Given the description of an element on the screen output the (x, y) to click on. 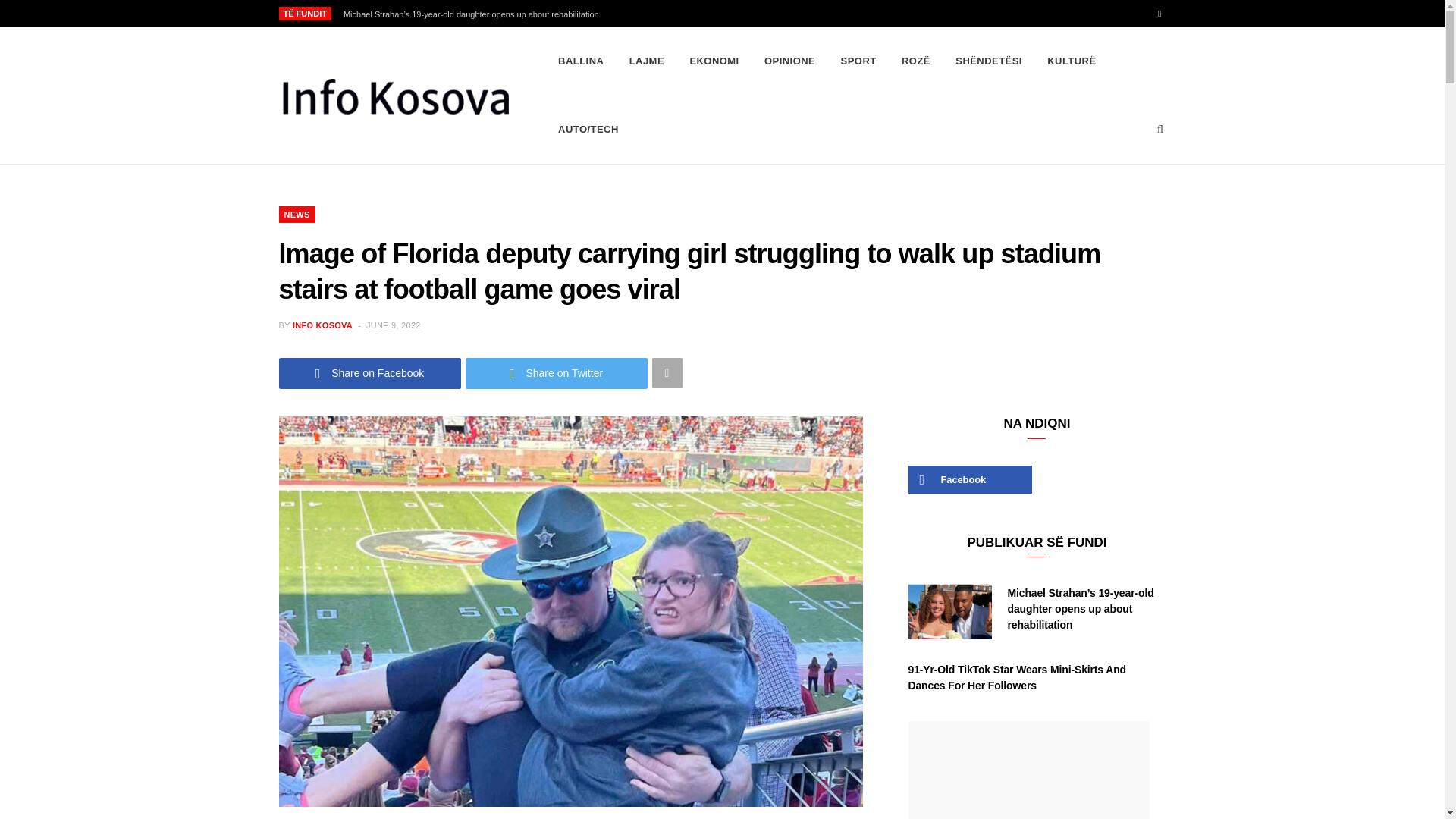
JUNE 9, 2022 (393, 325)
INFO KOSOVA (322, 325)
NEWS (297, 214)
BALLINA (580, 61)
Share on Facebook (370, 373)
OPINIONE (789, 61)
Share on Twitter (556, 373)
Share on Facebook (370, 373)
EKONOMI (713, 61)
Posts by Info Kosova (322, 325)
Share on Twitter (556, 373)
Info Kosova (394, 95)
Download This Theme (580, 61)
